Given the description of an element on the screen output the (x, y) to click on. 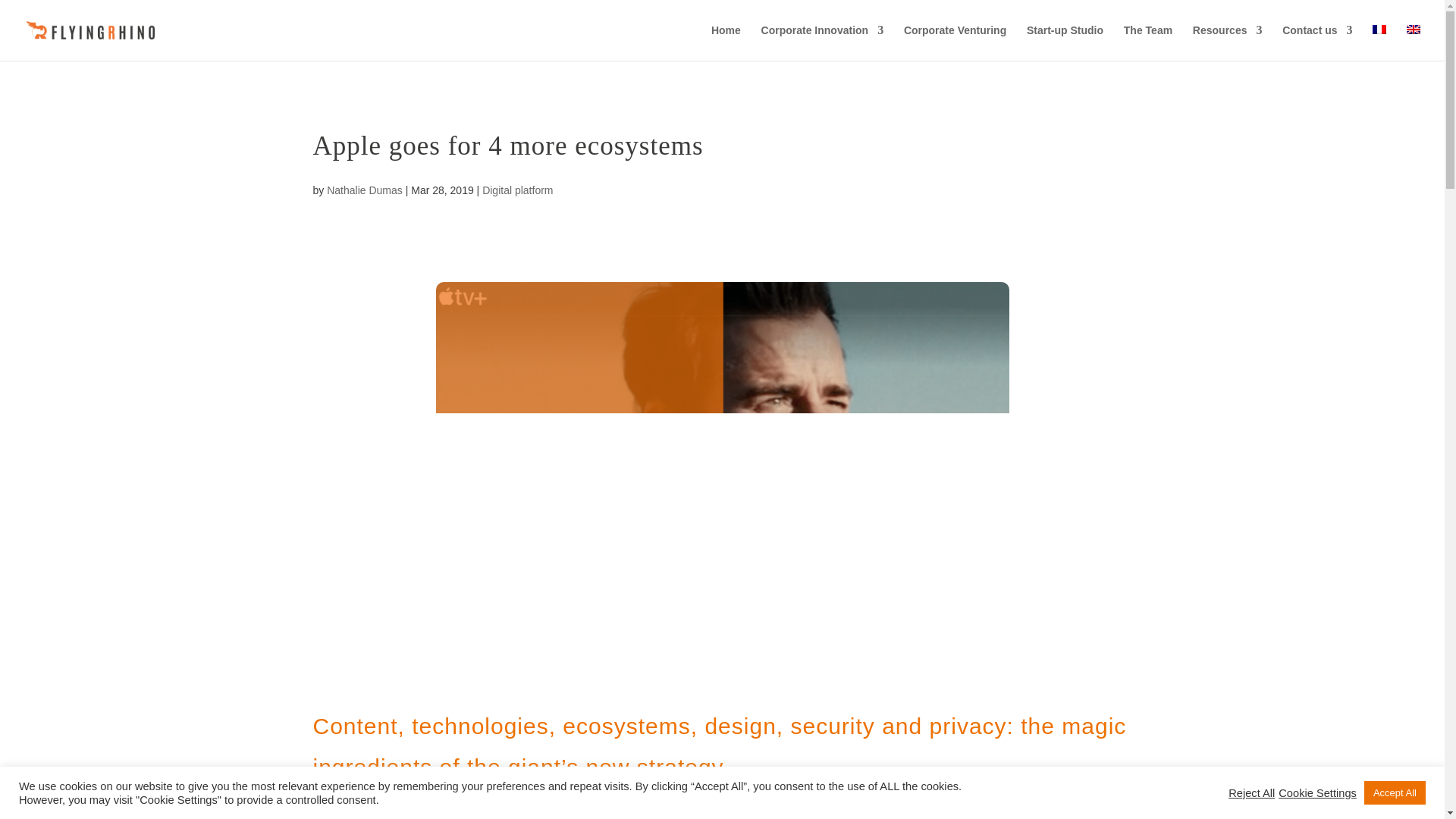
Posts by Nathalie Dumas (364, 190)
Corporate Venturing (955, 42)
Nathalie Dumas (364, 190)
Corporate Innovation (822, 42)
Resources (1227, 42)
Contact us (1317, 42)
Start-up Studio (1064, 42)
Digital platform (517, 190)
The Team (1148, 42)
